Given the description of an element on the screen output the (x, y) to click on. 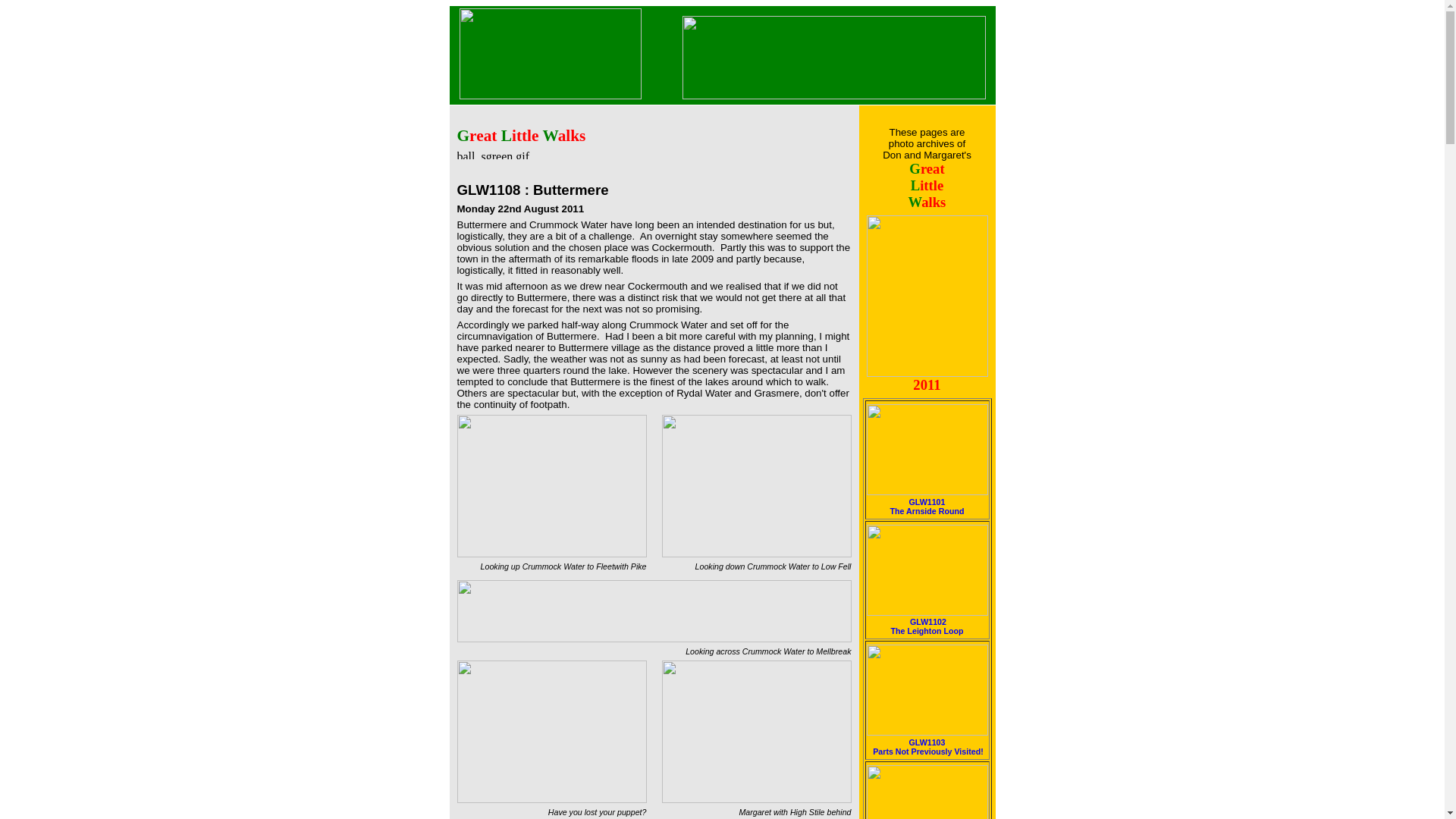
GLW1103 (926, 742)
 Parts Not Previously Visite (926, 505)
